Given the description of an element on the screen output the (x, y) to click on. 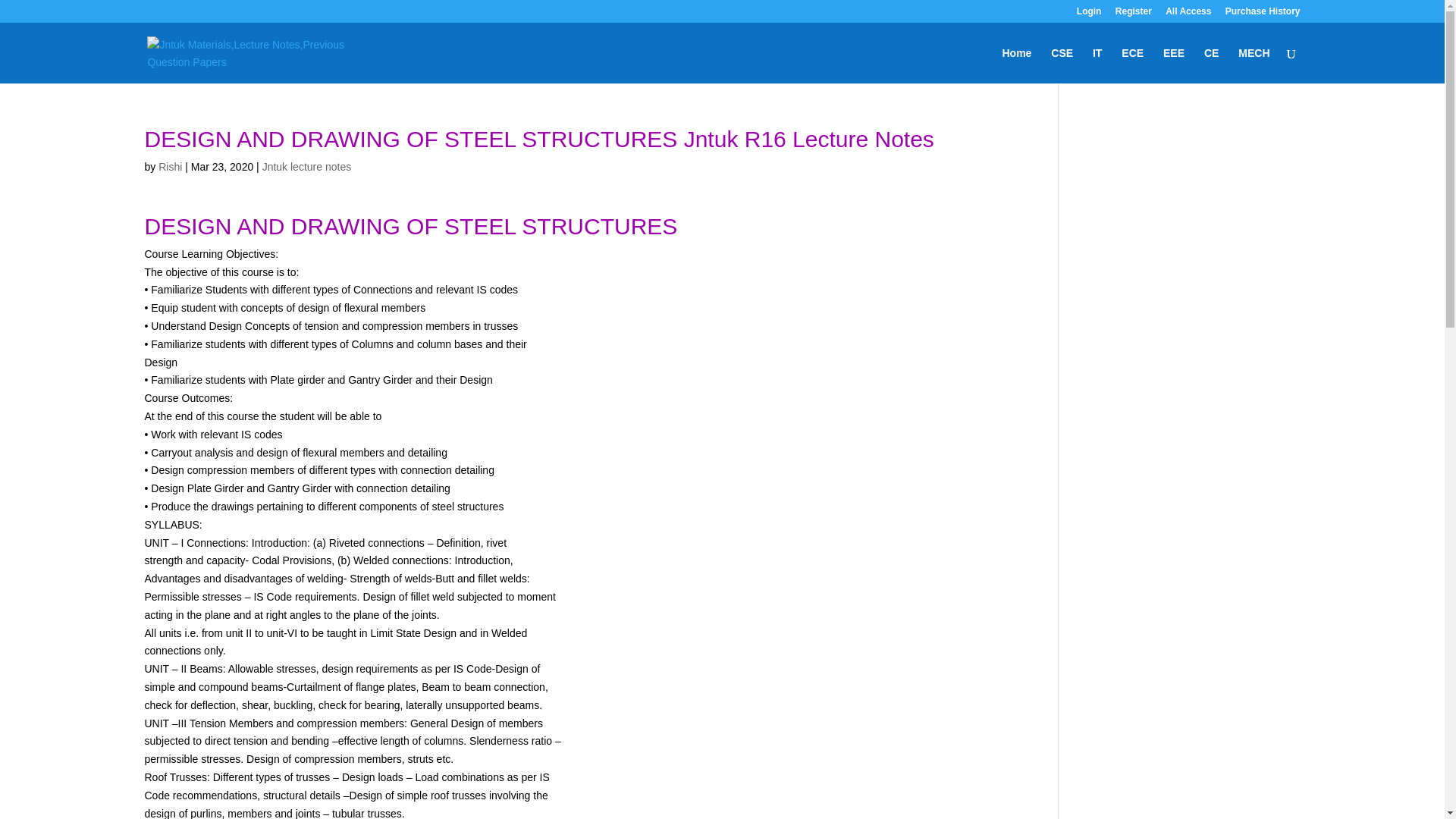
Rishi (170, 166)
Jntuk lecture notes (307, 166)
All Access (1188, 14)
Purchase History (1262, 14)
Posts by Rishi (170, 166)
Register (1133, 14)
Login (1089, 14)
